Given the description of an element on the screen output the (x, y) to click on. 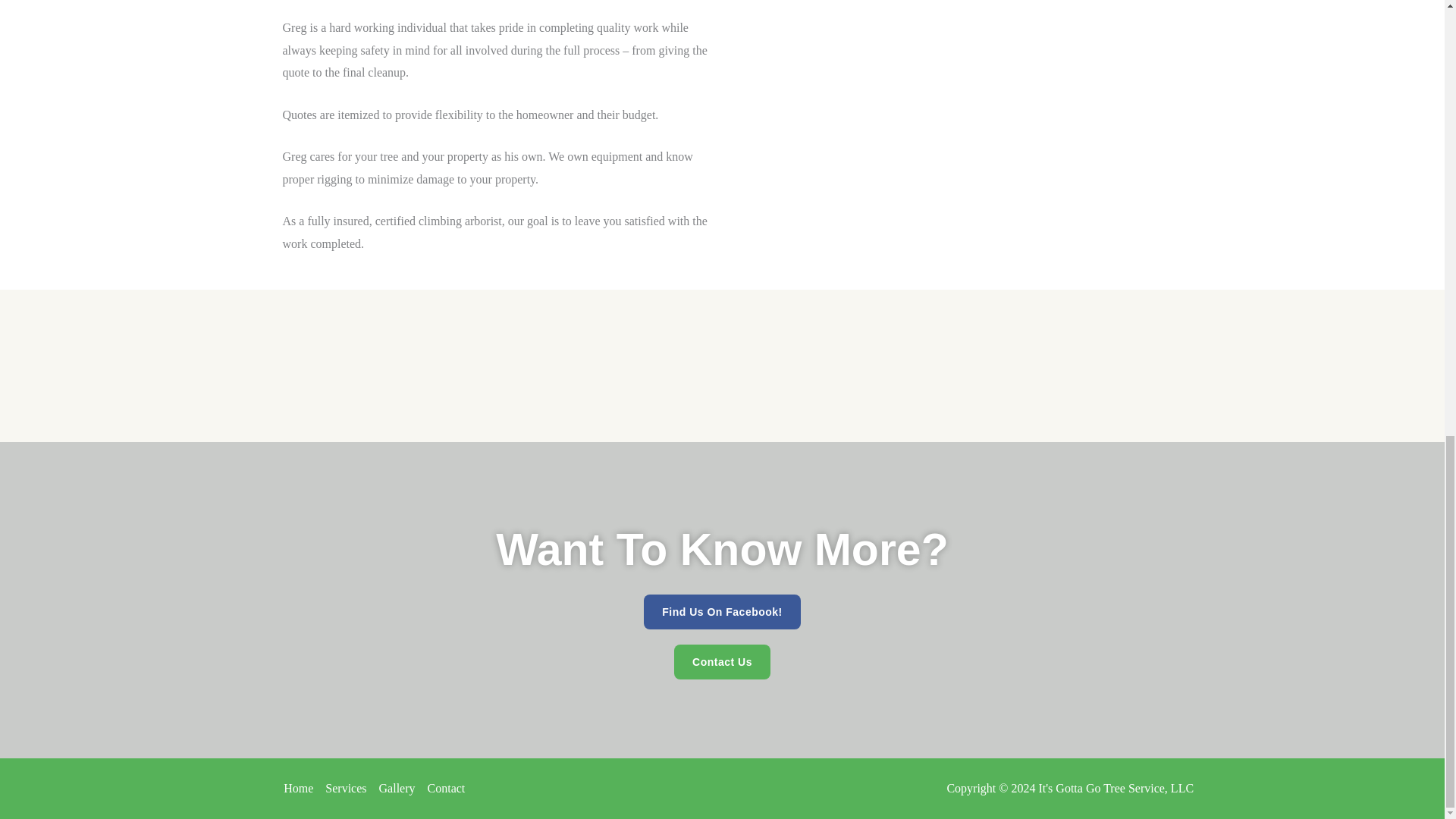
Find Us On Facebook! (721, 611)
Home (300, 788)
Contact Us (722, 661)
Gallery (397, 788)
Contact (443, 788)
Services (345, 788)
